Given the description of an element on the screen output the (x, y) to click on. 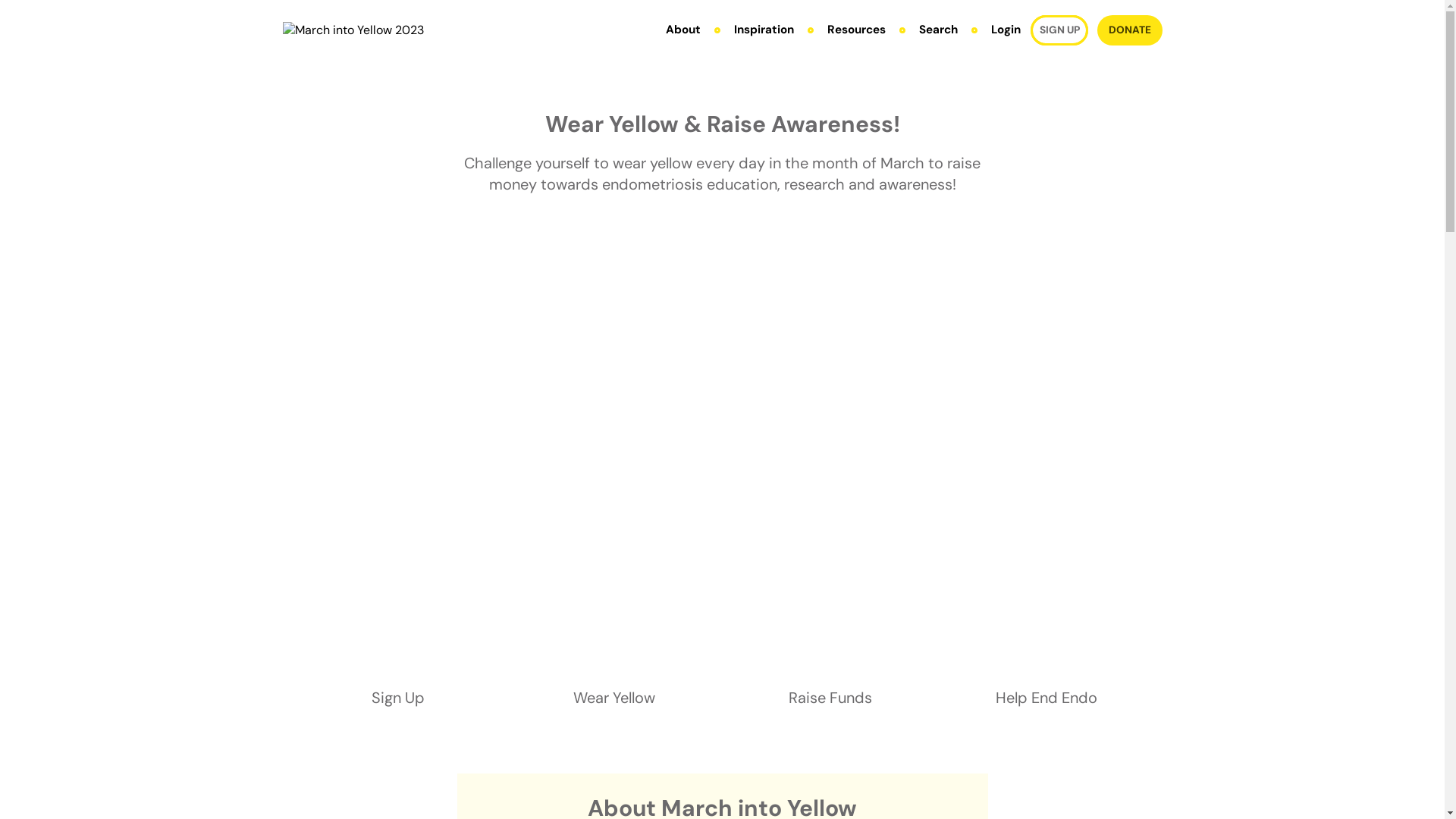
Resources Element type: text (856, 29)
Search Element type: text (938, 29)
SIGN UP Element type: text (1059, 30)
Login Element type: text (1005, 29)
About Element type: text (682, 29)
DONATE Element type: text (1129, 30)
Inspiration Element type: text (763, 29)
